Given the description of an element on the screen output the (x, y) to click on. 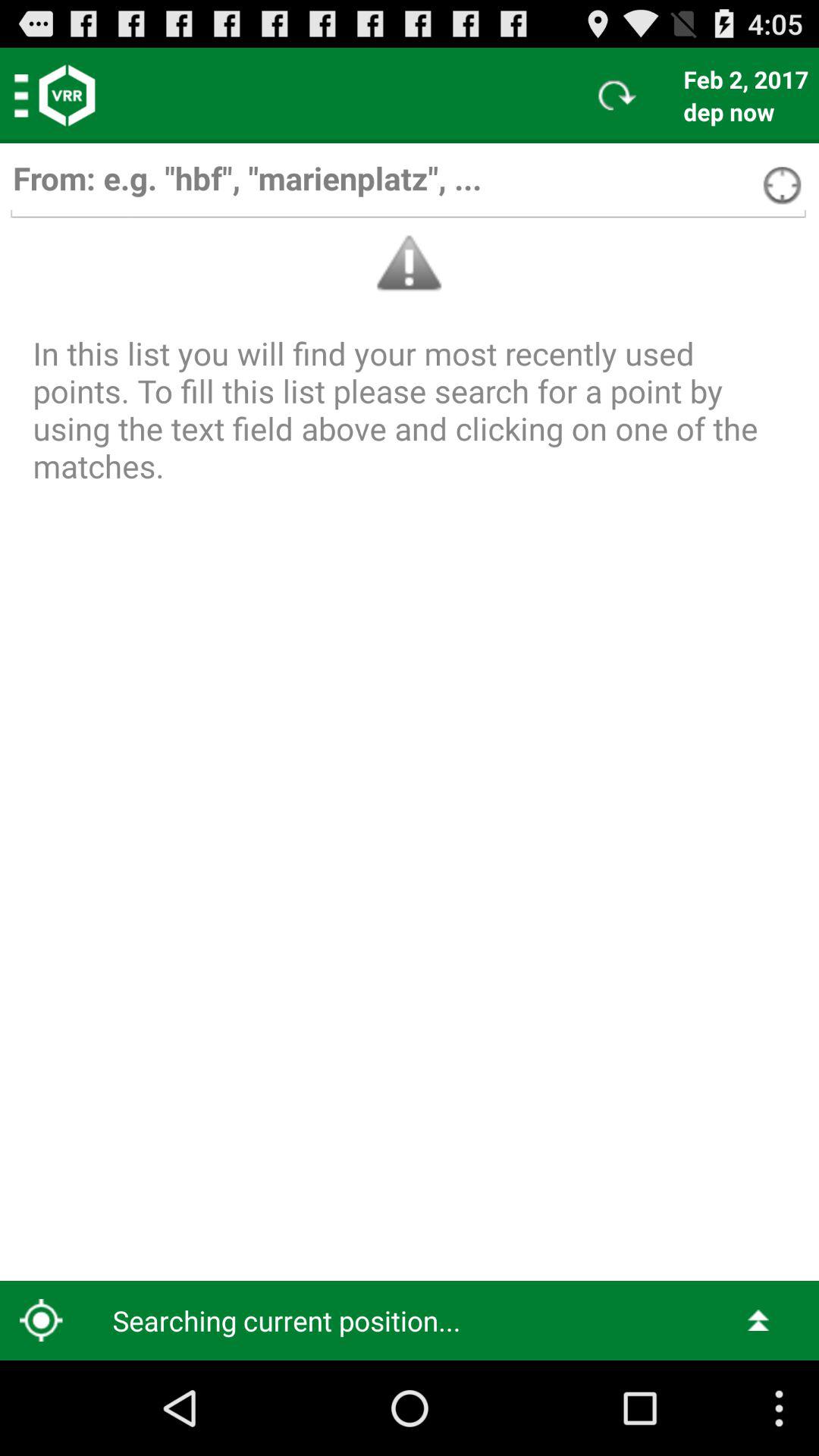
go to dep now along with the text above it (746, 95)
